Given the description of an element on the screen output the (x, y) to click on. 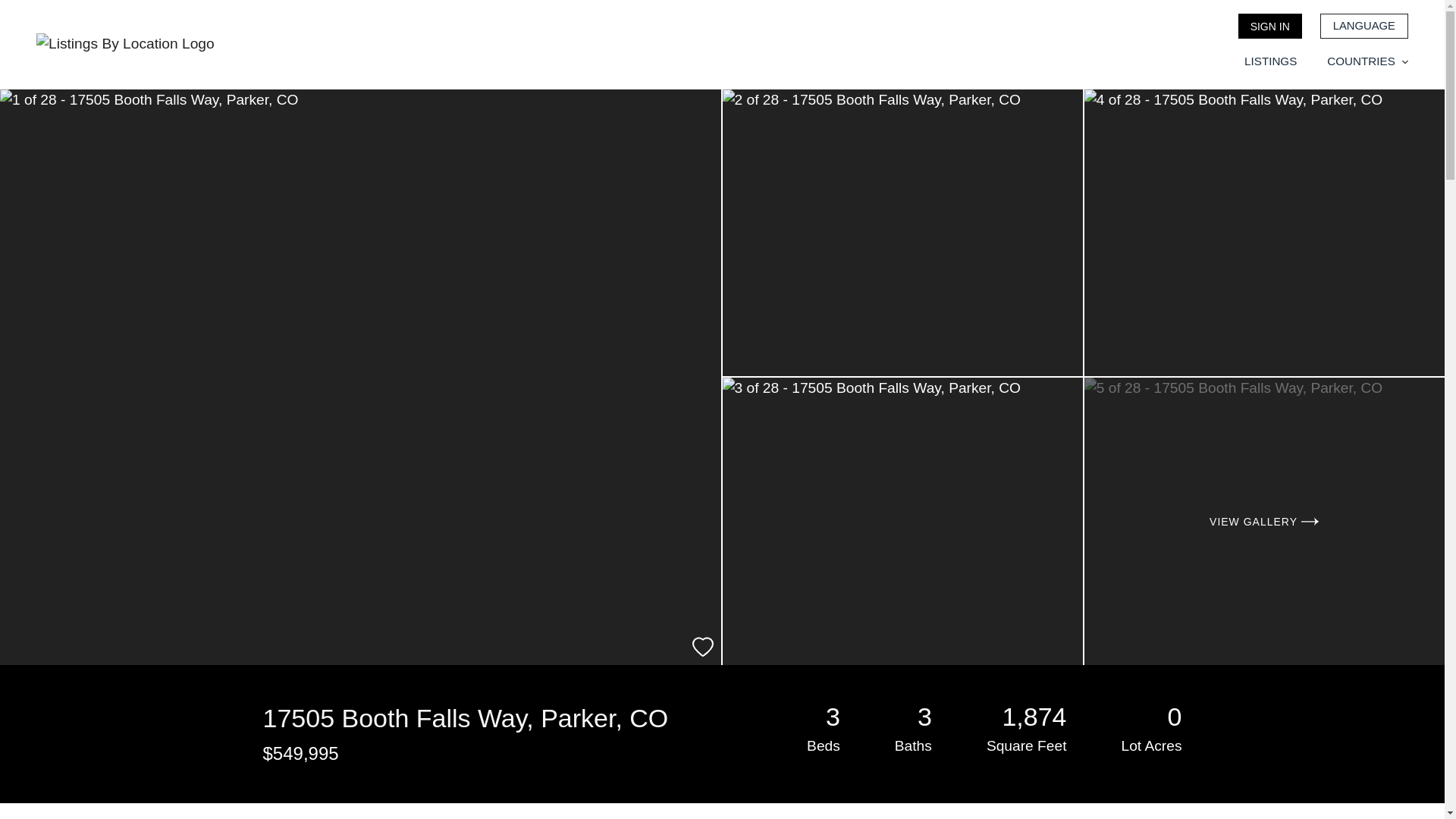
LISTINGS (1270, 61)
OVERVIEW (291, 811)
COUNTRIES DROPDOWN ARROW (1366, 61)
REQUEST SHOWING (675, 811)
DROPDOWN ARROW (1404, 61)
SIGN IN (1270, 25)
LANGUAGE (1363, 25)
